Given the description of an element on the screen output the (x, y) to click on. 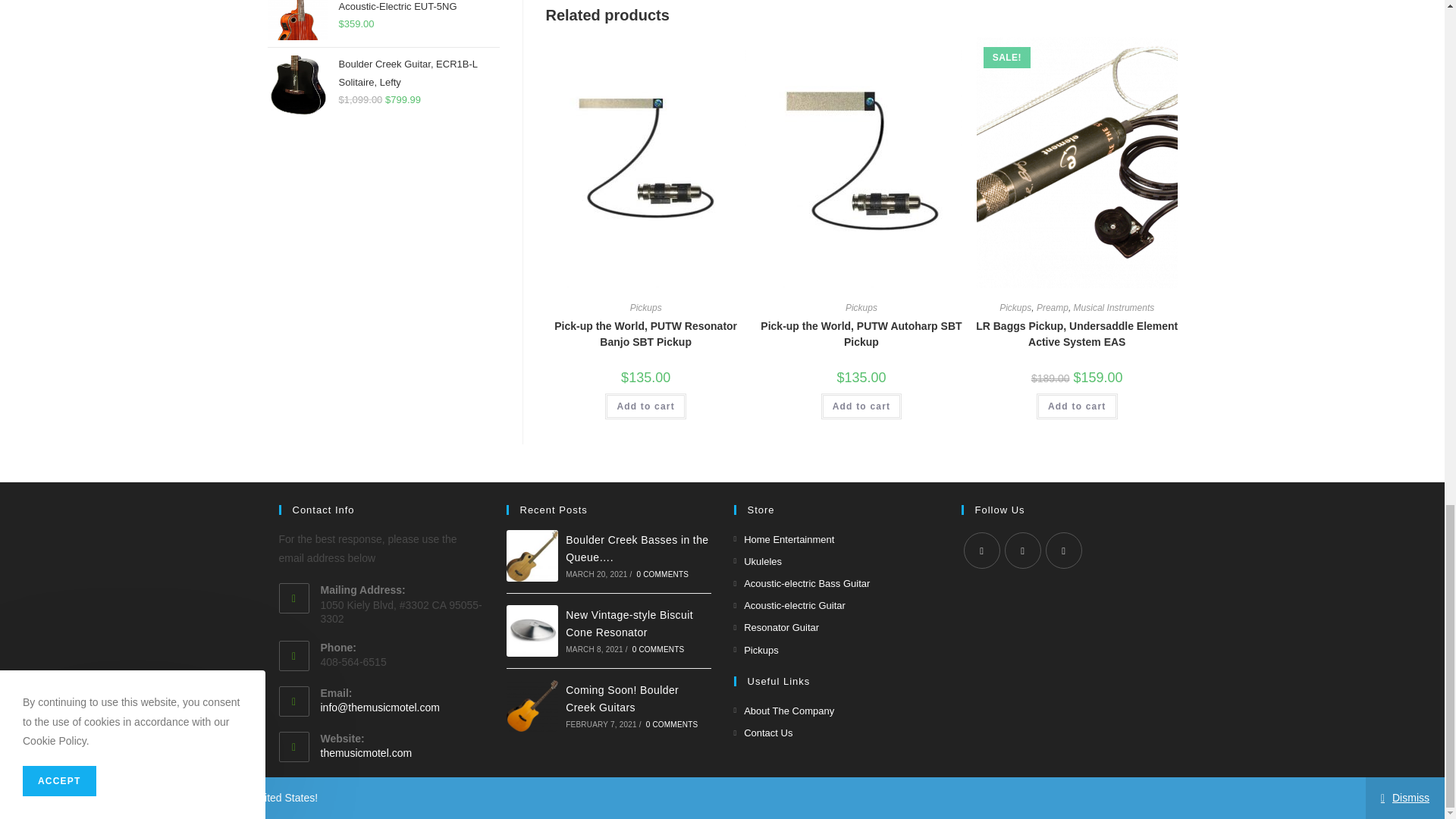
New Vintage-style Biscuit Cone Resonator (531, 630)
Coming Soon! Boulder Creek Guitars (531, 706)
